Given the description of an element on the screen output the (x, y) to click on. 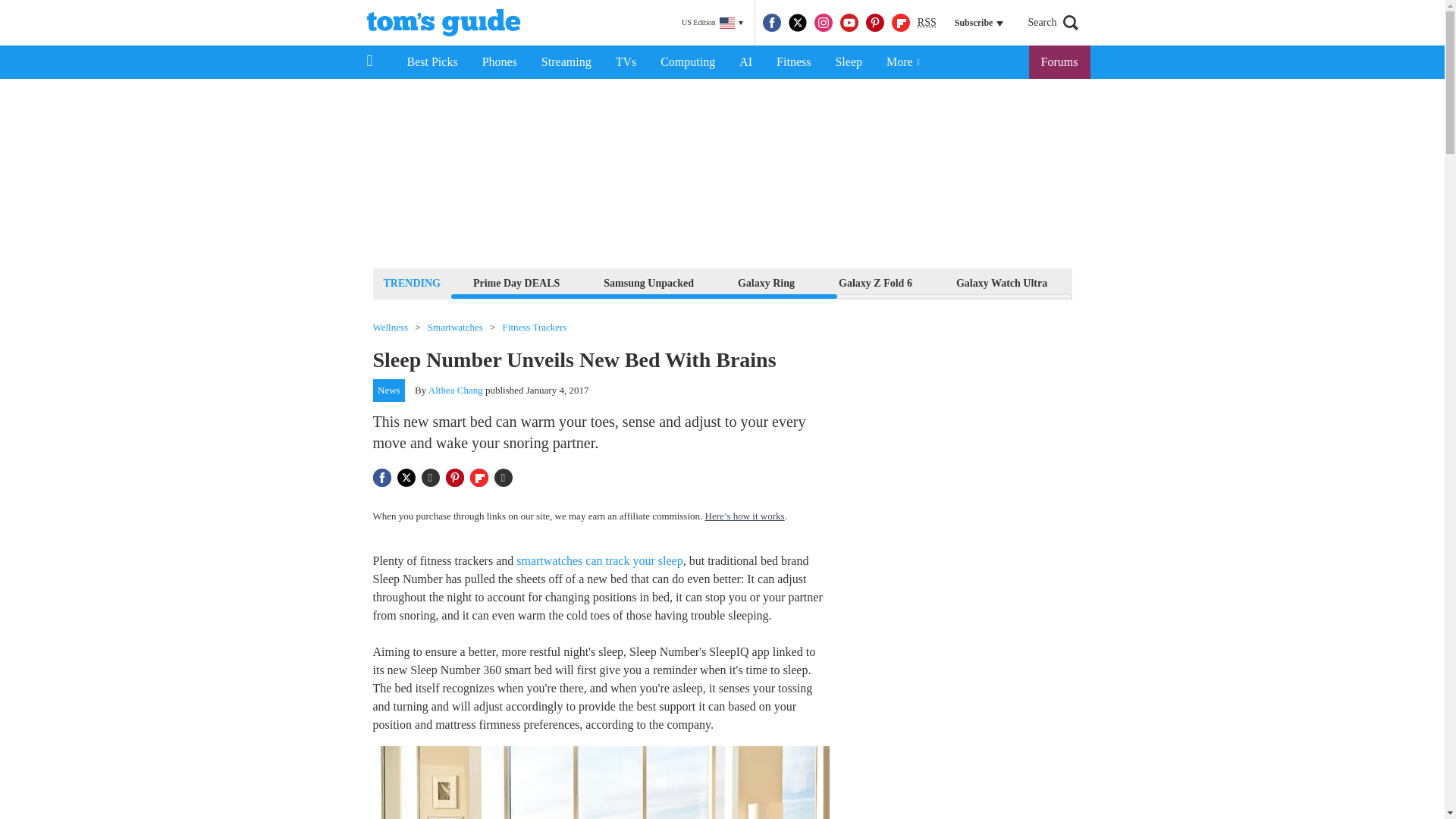
Really Simple Syndication (926, 21)
Computing (686, 61)
AI (745, 61)
Best Picks (431, 61)
US Edition (712, 22)
RSS (926, 22)
Sleep (848, 61)
TVs (626, 61)
Fitness (793, 61)
Phones (499, 61)
Streaming (566, 61)
